Given the description of an element on the screen output the (x, y) to click on. 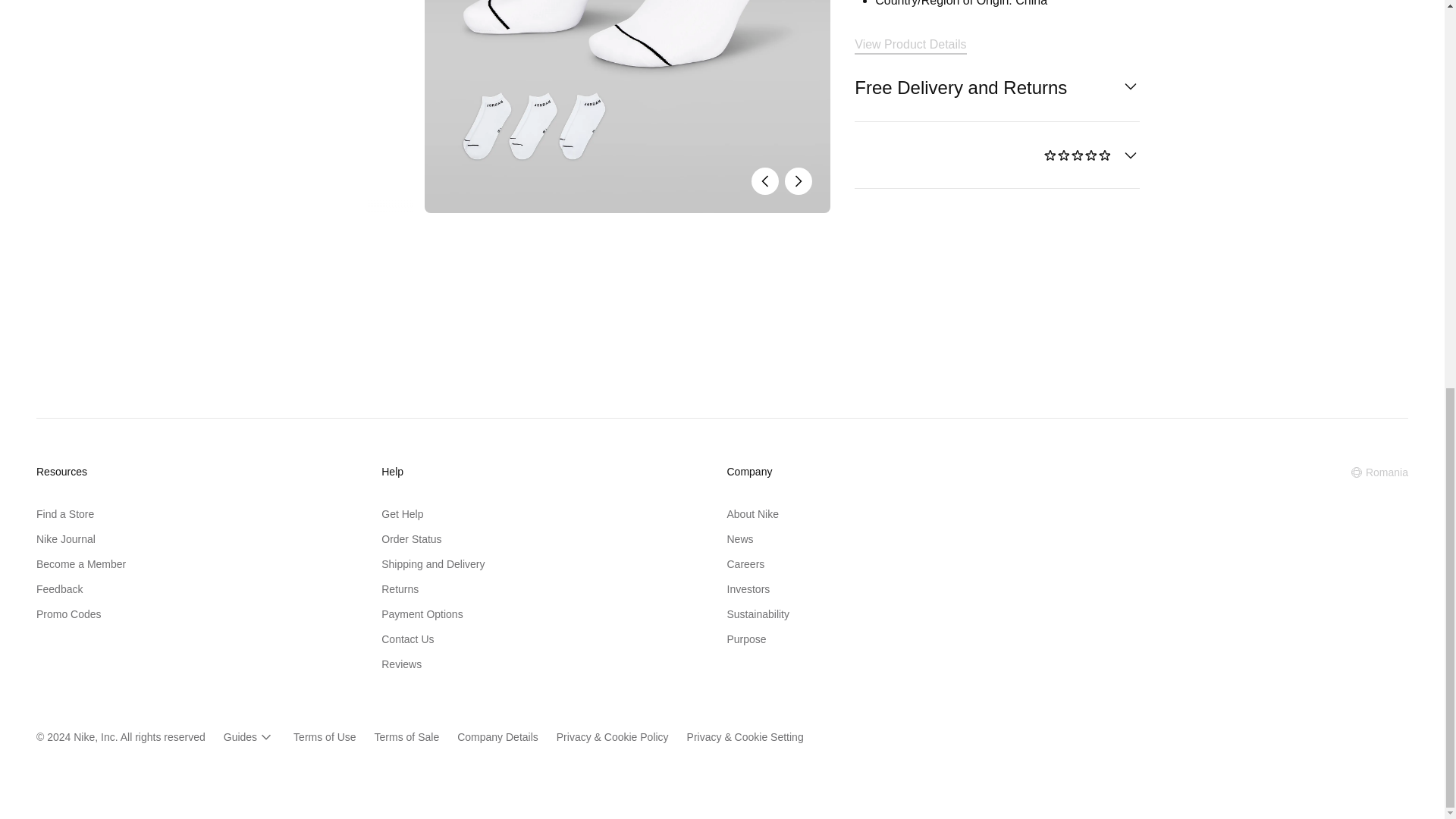
Selected Location: Romania (1379, 472)
No Stars (1077, 155)
